Given the description of an element on the screen output the (x, y) to click on. 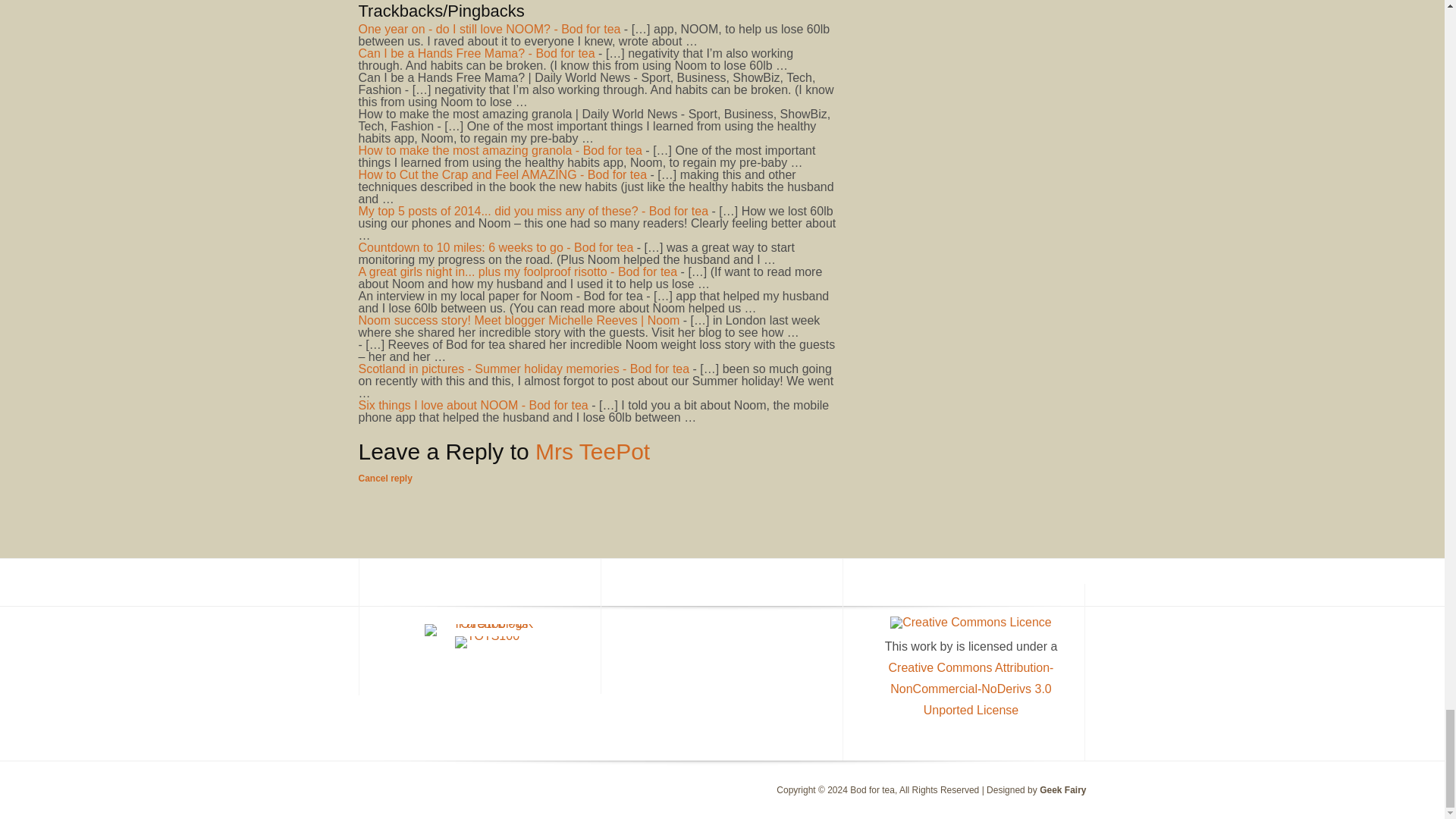
TOTS 100 - UK Parent Blogs (487, 623)
The Geek Fairy (1062, 789)
TOTS100 - UK Parent Blogs (487, 630)
TOTS100 (486, 642)
TOTS100 (486, 635)
